Given the description of an element on the screen output the (x, y) to click on. 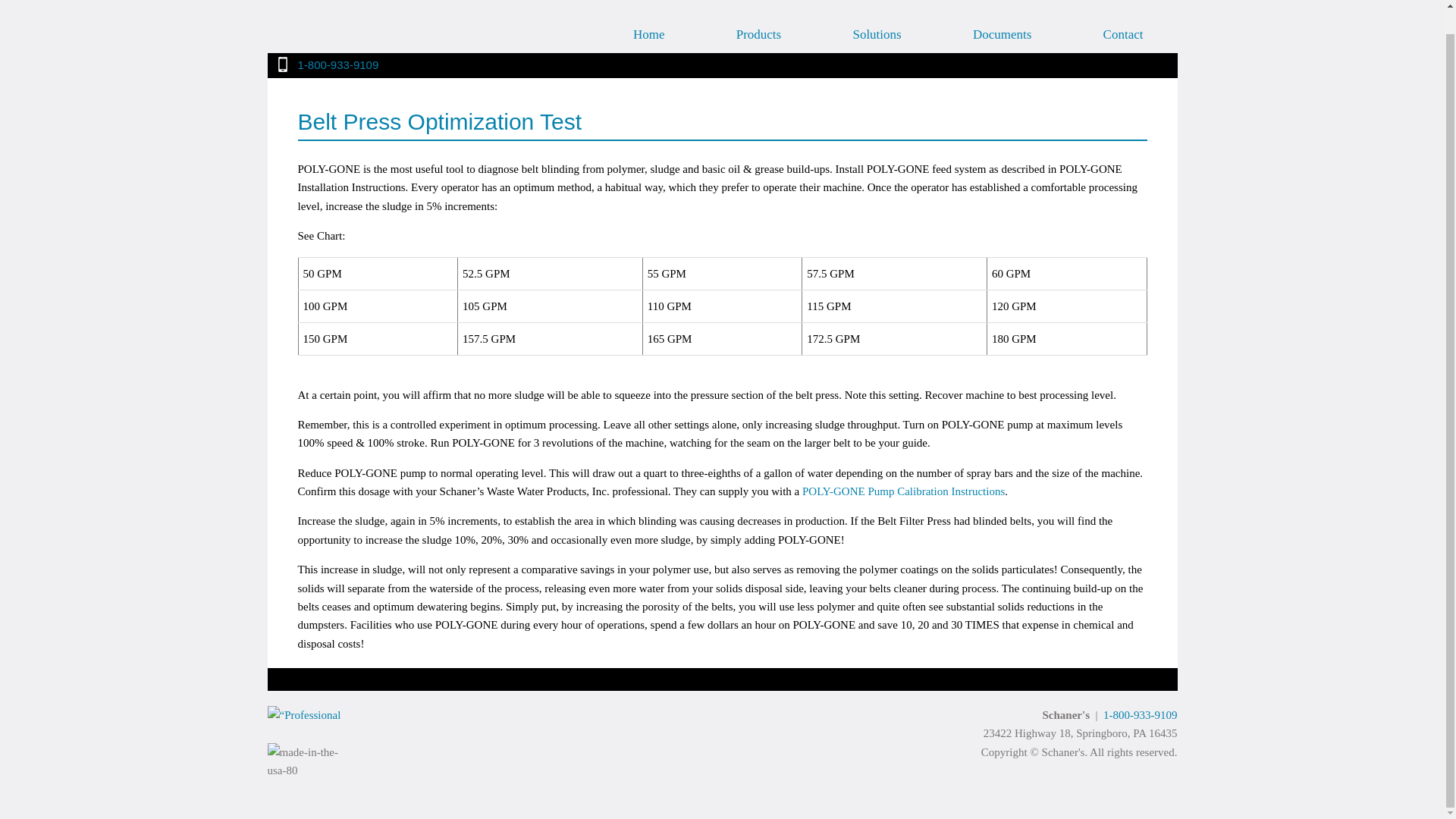
Products (758, 13)
Home (648, 13)
Site Name (380, 14)
Belt Press Optimization Test (722, 124)
Contact (1122, 13)
1-800-933-9109 (337, 64)
1-800-933-9109 (1140, 715)
Solutions (876, 13)
POLY-GONE Pump Calibration Instructions (903, 491)
Documents (1002, 13)
